Given the description of an element on the screen output the (x, y) to click on. 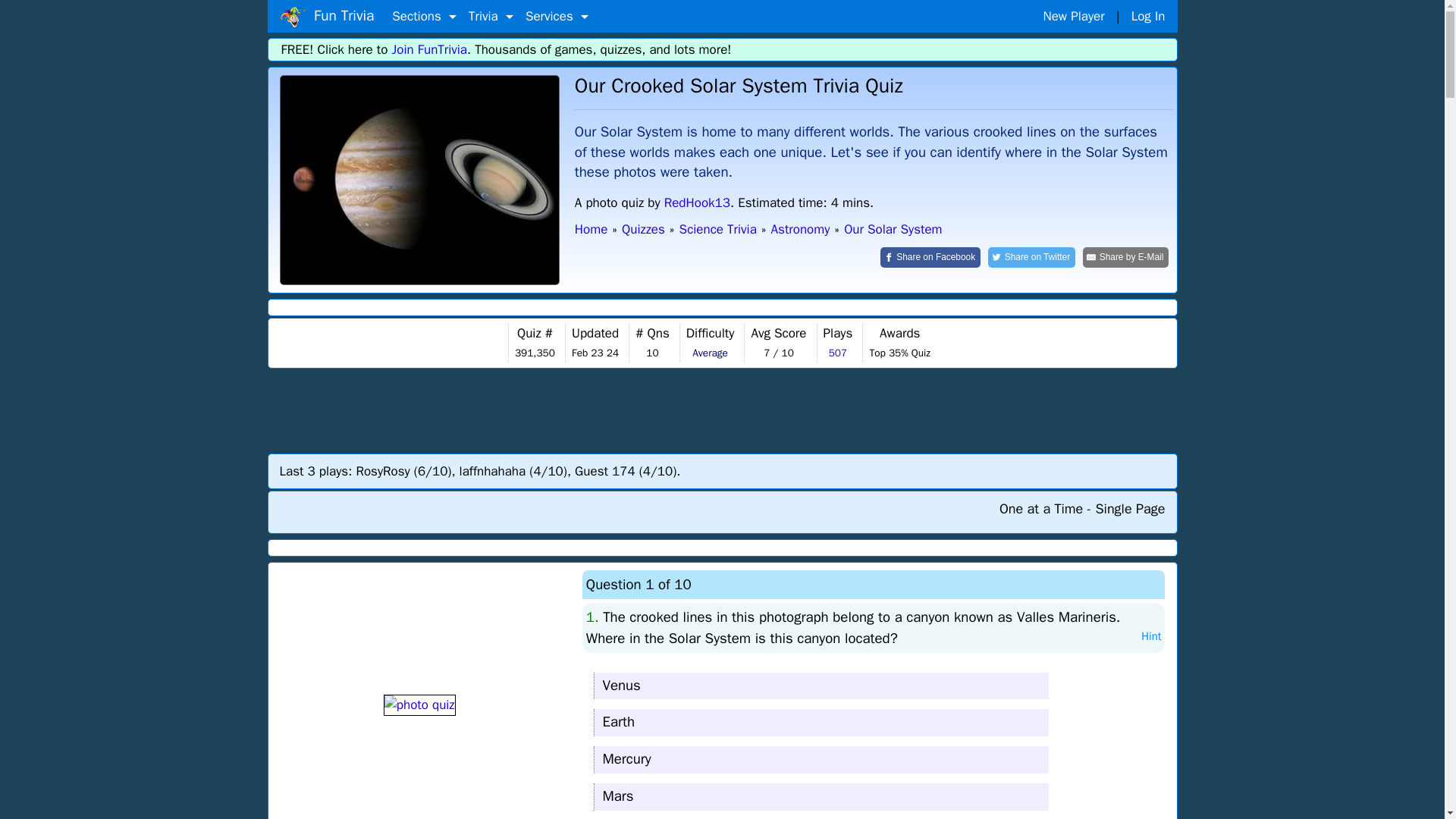
Services (556, 16)
Advertisement (722, 409)
Sections (424, 16)
Home (291, 16)
  Fun Trivia (326, 15)
Trivia (491, 16)
Fun Trivia (419, 180)
